Given the description of an element on the screen output the (x, y) to click on. 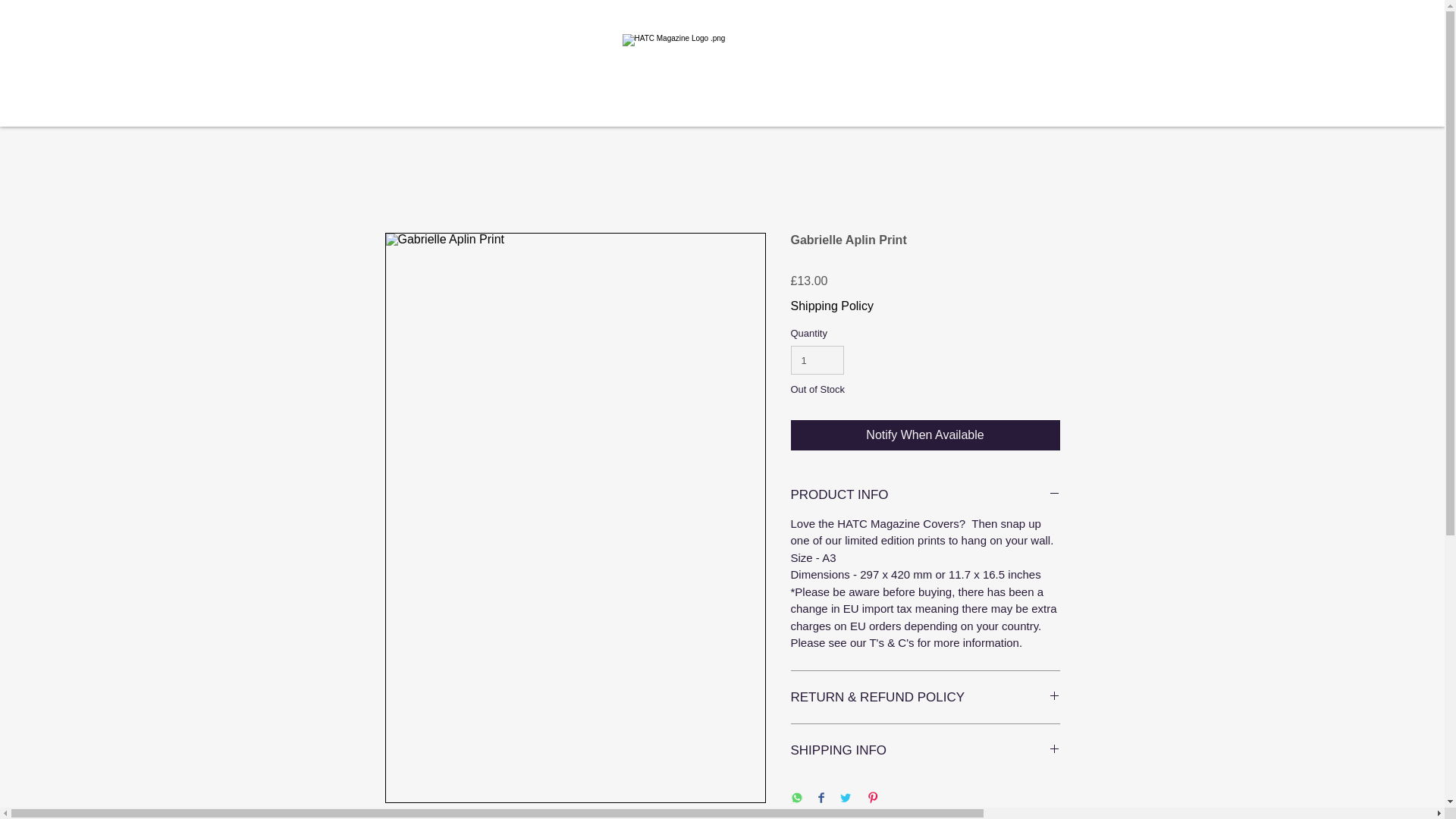
Notify When Available (924, 435)
PRODUCT INFO (924, 494)
1 (817, 359)
Shipping Policy (831, 305)
SHIPPING INFO (924, 750)
